Given the description of an element on the screen output the (x, y) to click on. 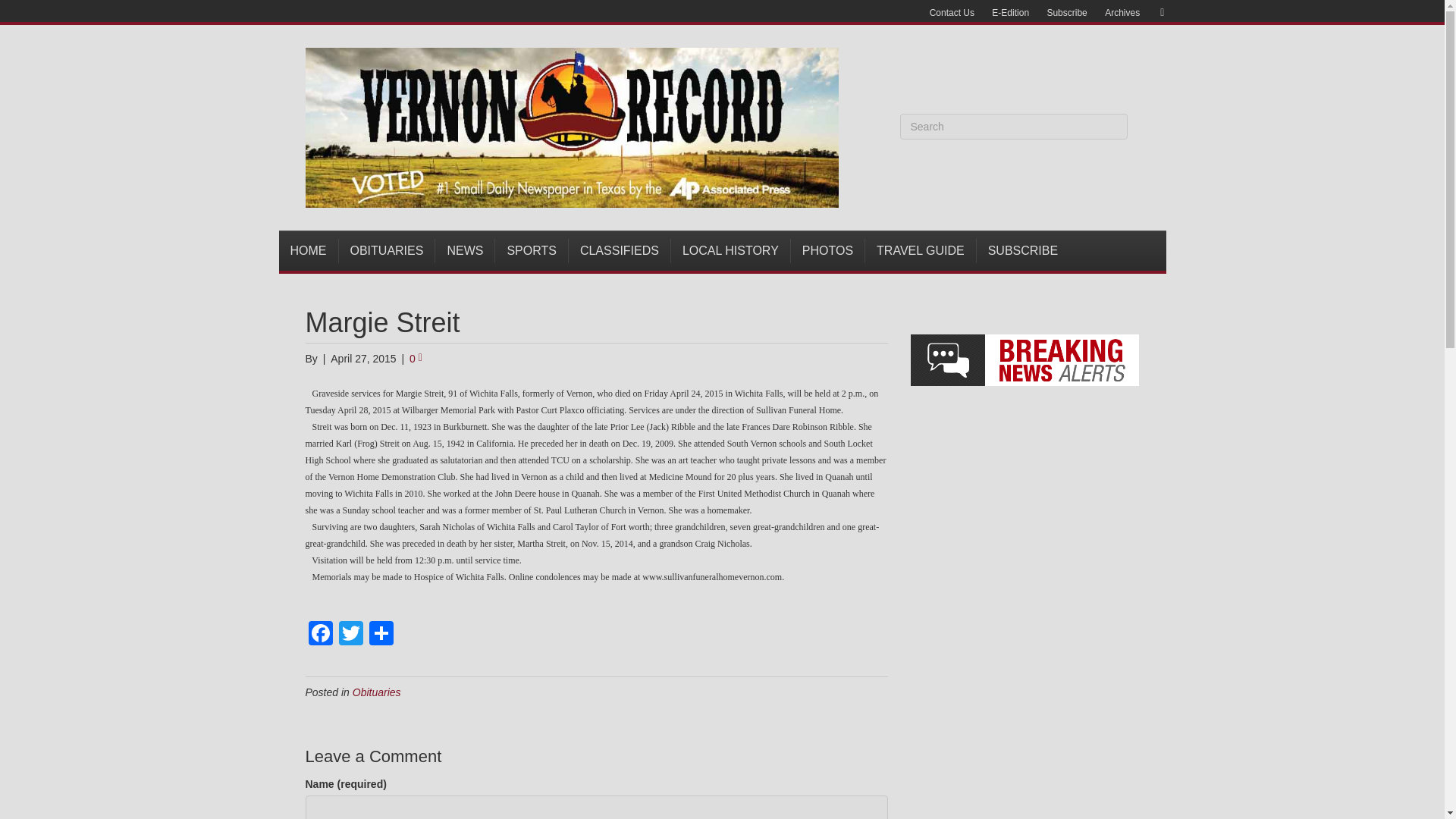
E-Edition (1010, 13)
Facebook (319, 634)
Subscribe (1066, 13)
Contact Us (951, 13)
TRAVEL GUIDE (920, 250)
PHOTOS (827, 250)
Obituaries (376, 692)
SPORTS (532, 250)
Email (1154, 11)
NEWS (465, 250)
OBITUARIES (386, 250)
Type and press Enter to search. (1012, 126)
0 (415, 358)
Twitter (349, 634)
LOCAL HISTORY (730, 250)
